Given the description of an element on the screen output the (x, y) to click on. 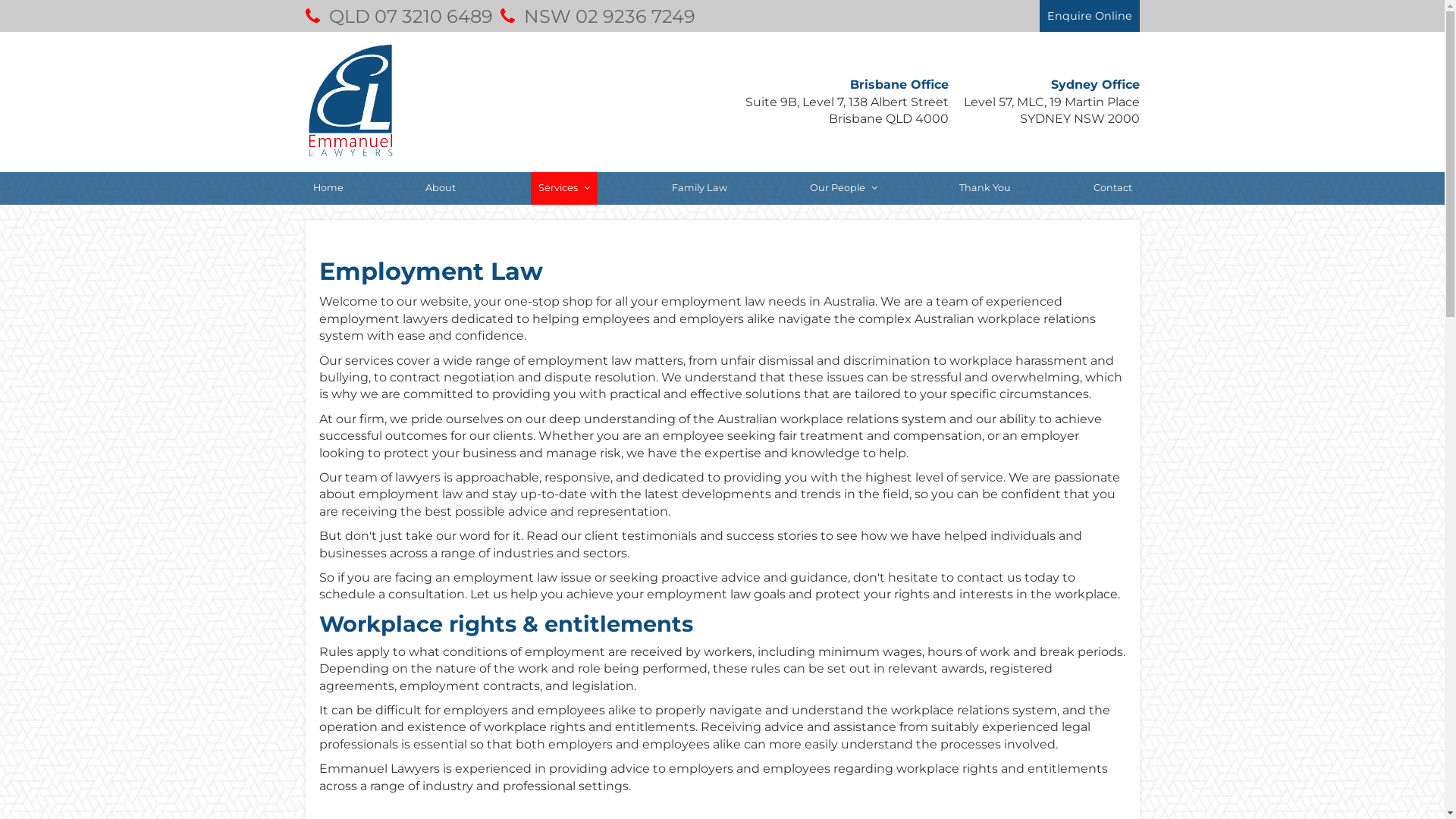
Enquire Online Element type: text (1088, 15)
Our People Element type: text (843, 187)
Contact Element type: text (1112, 187)
Thank You Element type: text (984, 187)
Family Law Element type: text (699, 187)
Services Element type: text (563, 187)
About Element type: text (440, 187)
Home Element type: text (327, 187)
